Given the description of an element on the screen output the (x, y) to click on. 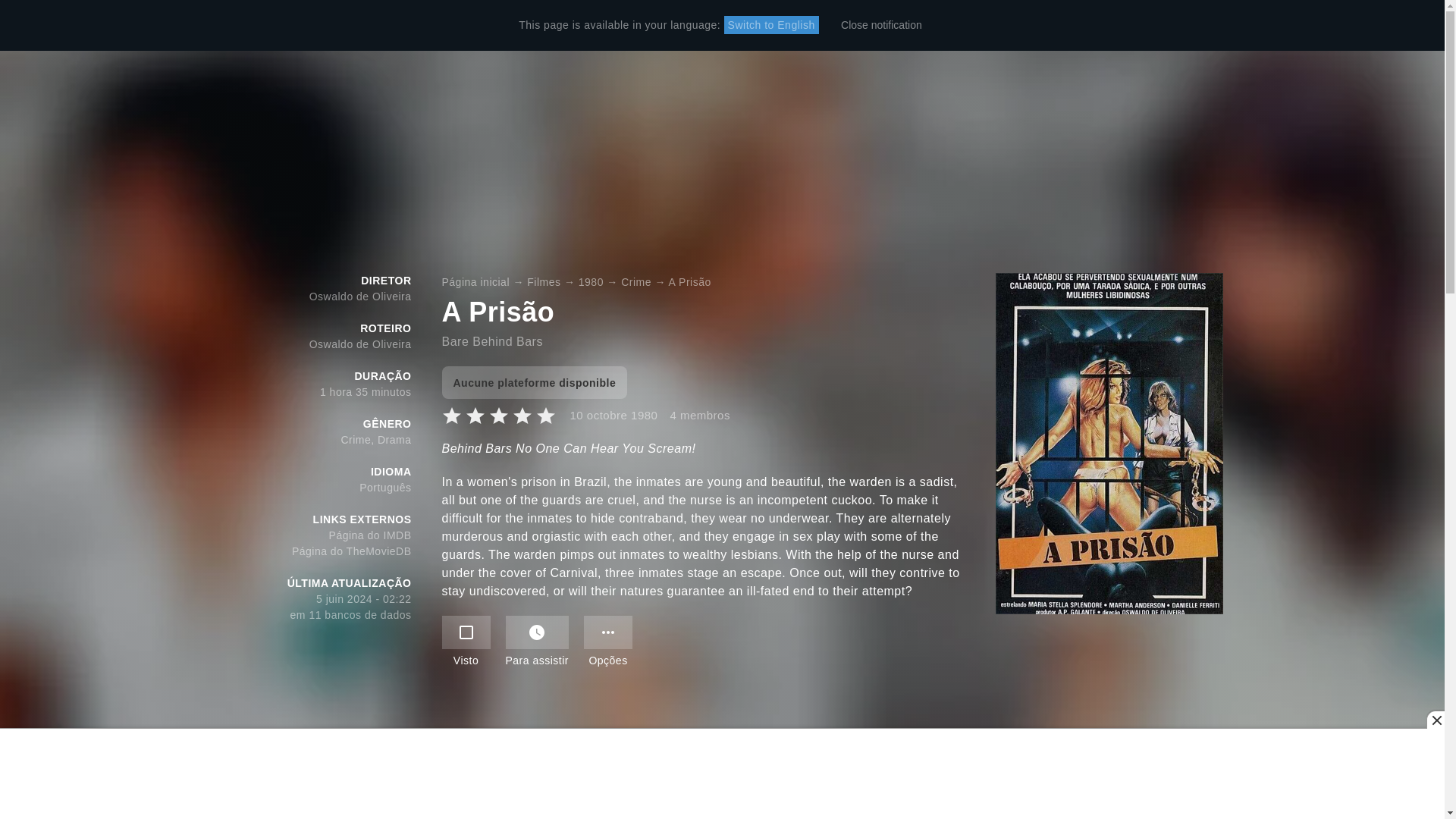
Oswaldo de Oliveira (360, 344)
Crime (635, 282)
3rd party ad content (721, 764)
Filmes (526, 26)
Oswaldo de Oliveira (360, 296)
Comunidade (631, 26)
Registro (1163, 26)
Filmes (543, 282)
Aucune plateforme disponible (534, 382)
3rd party ad content (722, 774)
Login (1221, 26)
1980 (591, 282)
